Given the description of an element on the screen output the (x, y) to click on. 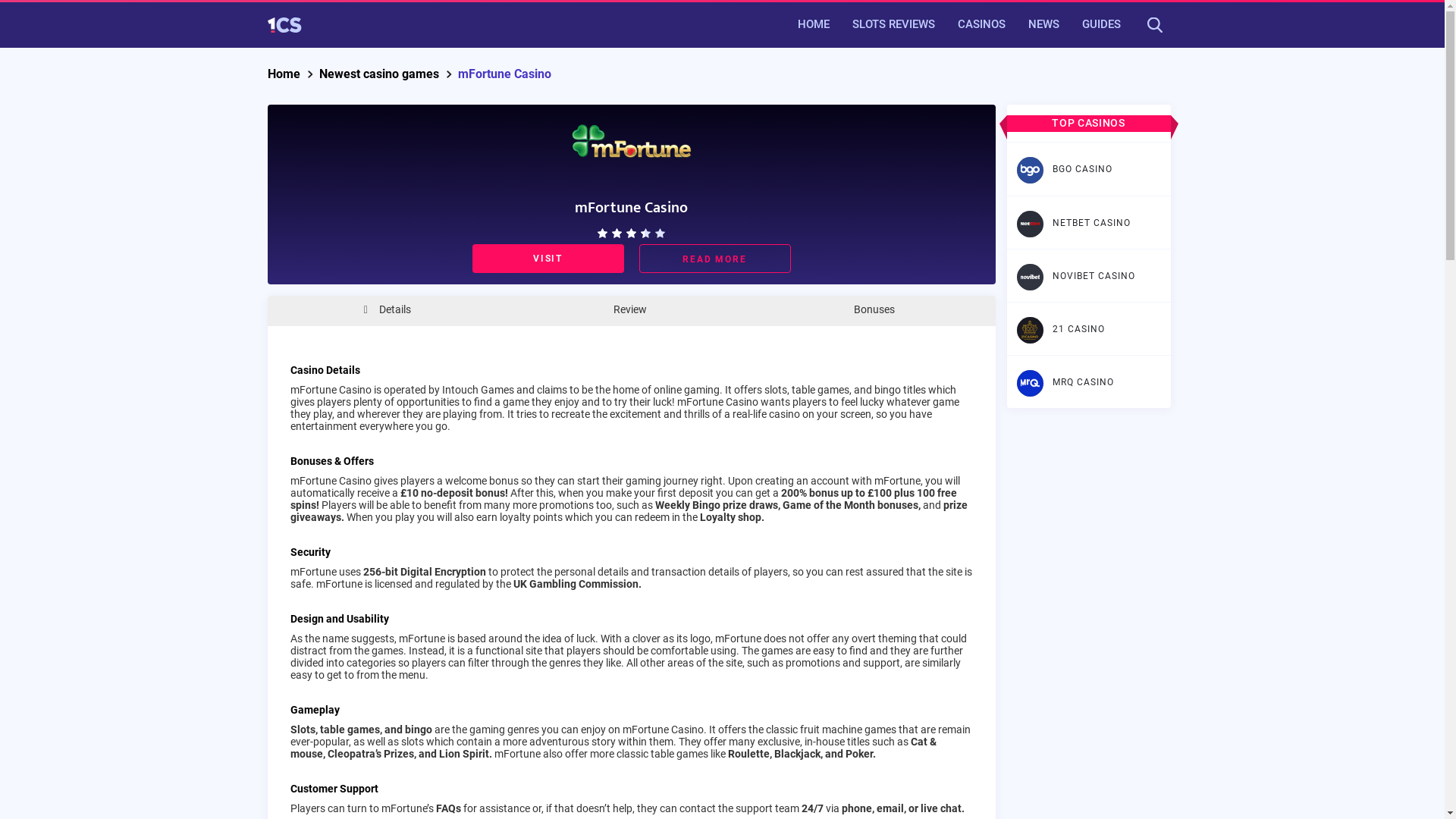
First Class Slots Element type: text (283, 24)
Newest casino games Element type: text (380, 76)
HOME Element type: text (812, 24)
mFortune Casino Element type: text (506, 76)
GUIDES Element type: text (1101, 24)
MRQ CASINO Element type: text (1088, 381)
21 CASINO Element type: text (1088, 328)
CASINOS Element type: text (981, 24)
SLOTS REVIEWS Element type: text (892, 24)
VISIT Element type: text (547, 258)
Details Element type: text (386, 310)
Bonuses Element type: text (868, 310)
NEWS Element type: text (1043, 24)
Home Element type: text (284, 76)
Search Element type: text (918, 23)
READ MORE Element type: text (714, 258)
BGO CASINO Element type: text (1088, 168)
NETBET CASINO Element type: text (1088, 222)
Review Element type: text (624, 310)
NOVIBET CASINO Element type: text (1088, 275)
